Given the description of an element on the screen output the (x, y) to click on. 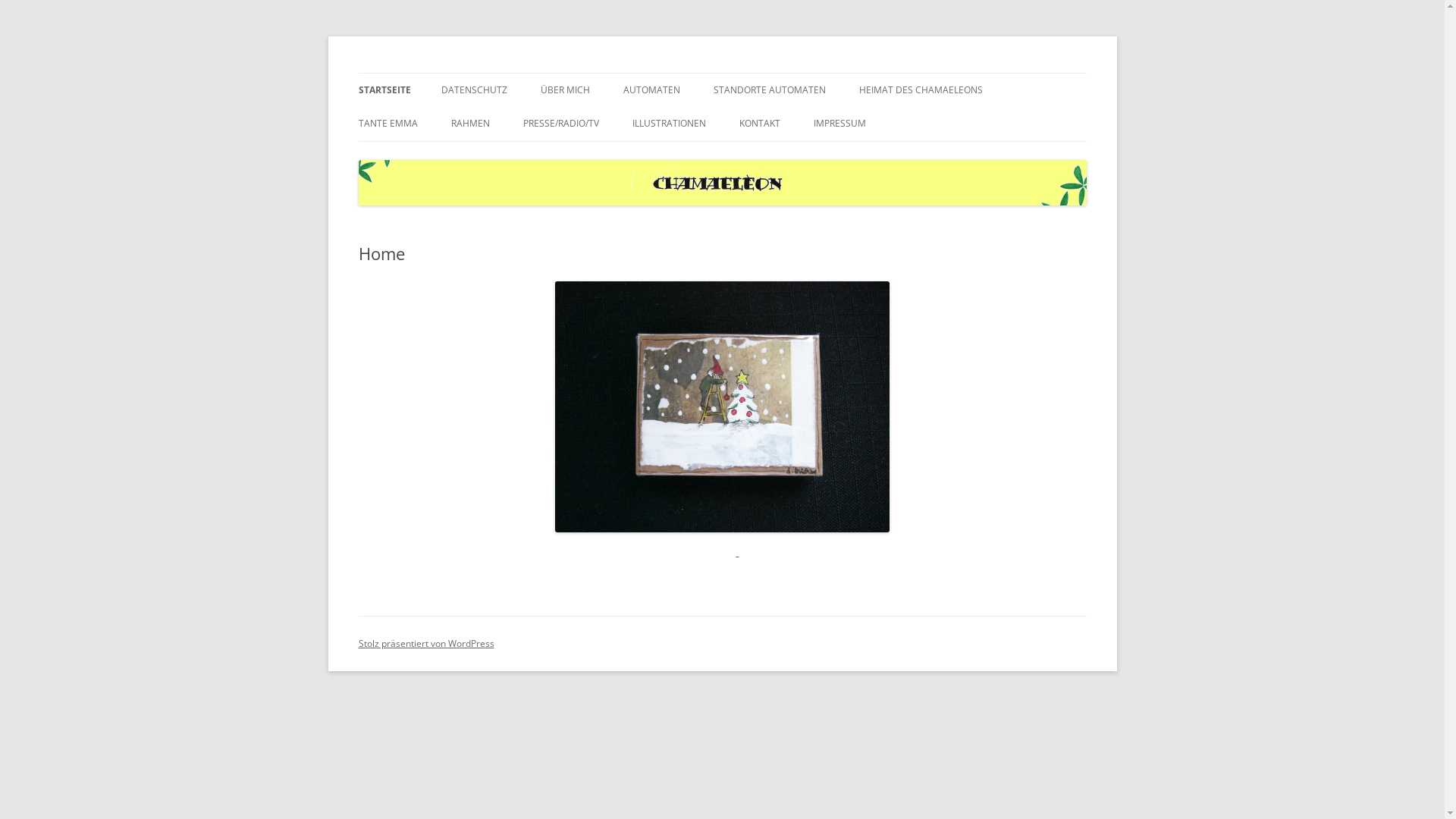
Springe zum Inhalt Element type: text (721, 72)
ILLUSTRATIONEN Element type: text (669, 123)
RAHMEN Element type: text (469, 123)
IMPRESSUM Element type: text (838, 123)
TANTE EMMA Element type: text (387, 123)
AUTOMATEN Element type: text (651, 89)
HEIMAT DES CHAMAELEONS Element type: text (920, 89)
DATENSCHUTZ Element type: text (474, 89)
KONTAKT Element type: text (758, 123)
PRESSE/RADIO/TV Element type: text (561, 123)
STARTSEITE Element type: text (383, 89)
  Element type: text (736, 551)
STANDORTE AUTOMATEN Element type: text (768, 89)
